Given the description of an element on the screen output the (x, y) to click on. 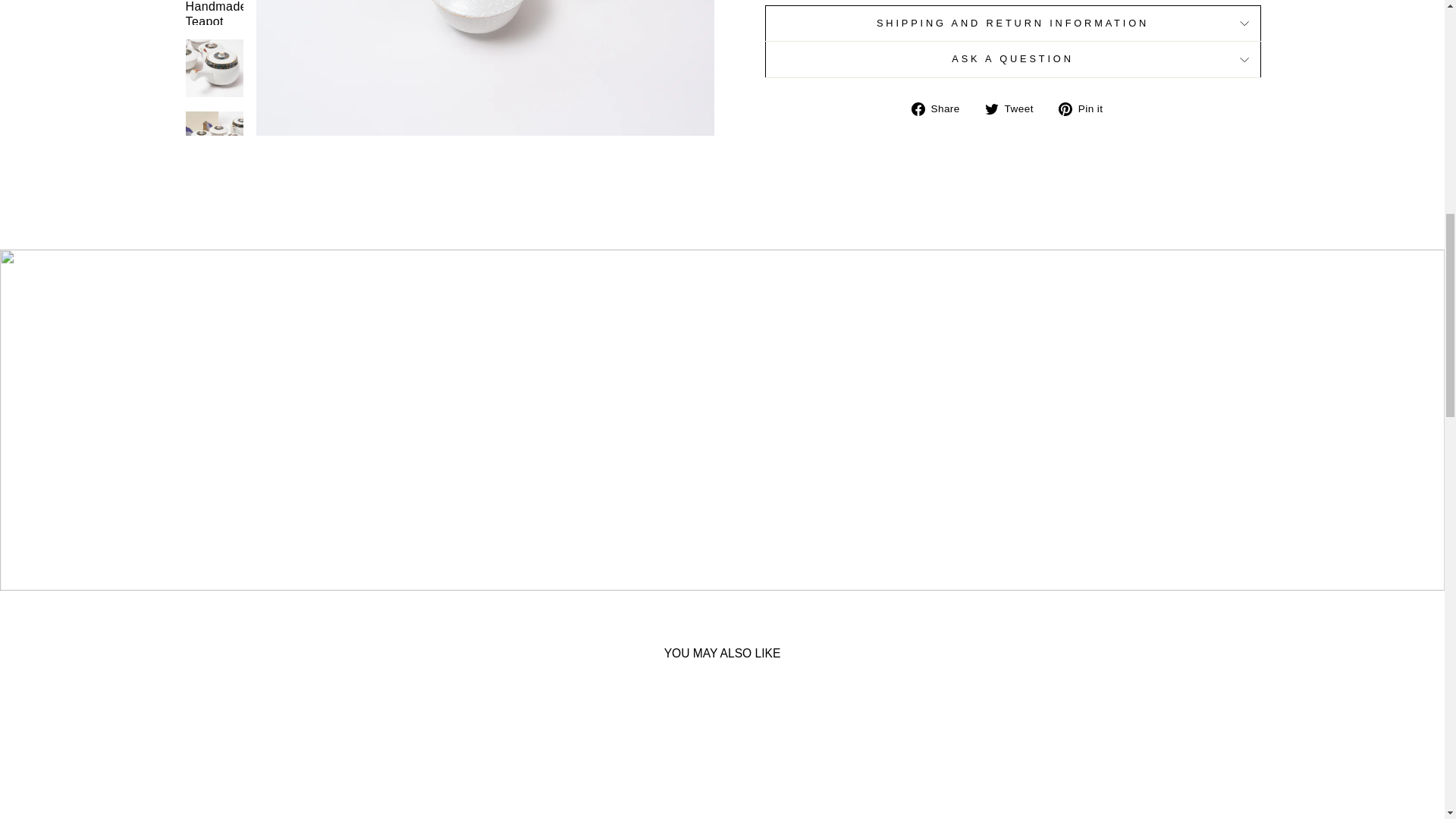
Share on Facebook (941, 108)
Tweet on Twitter (1015, 108)
Pin on Pinterest (1085, 108)
twitter (991, 109)
